Given the description of an element on the screen output the (x, y) to click on. 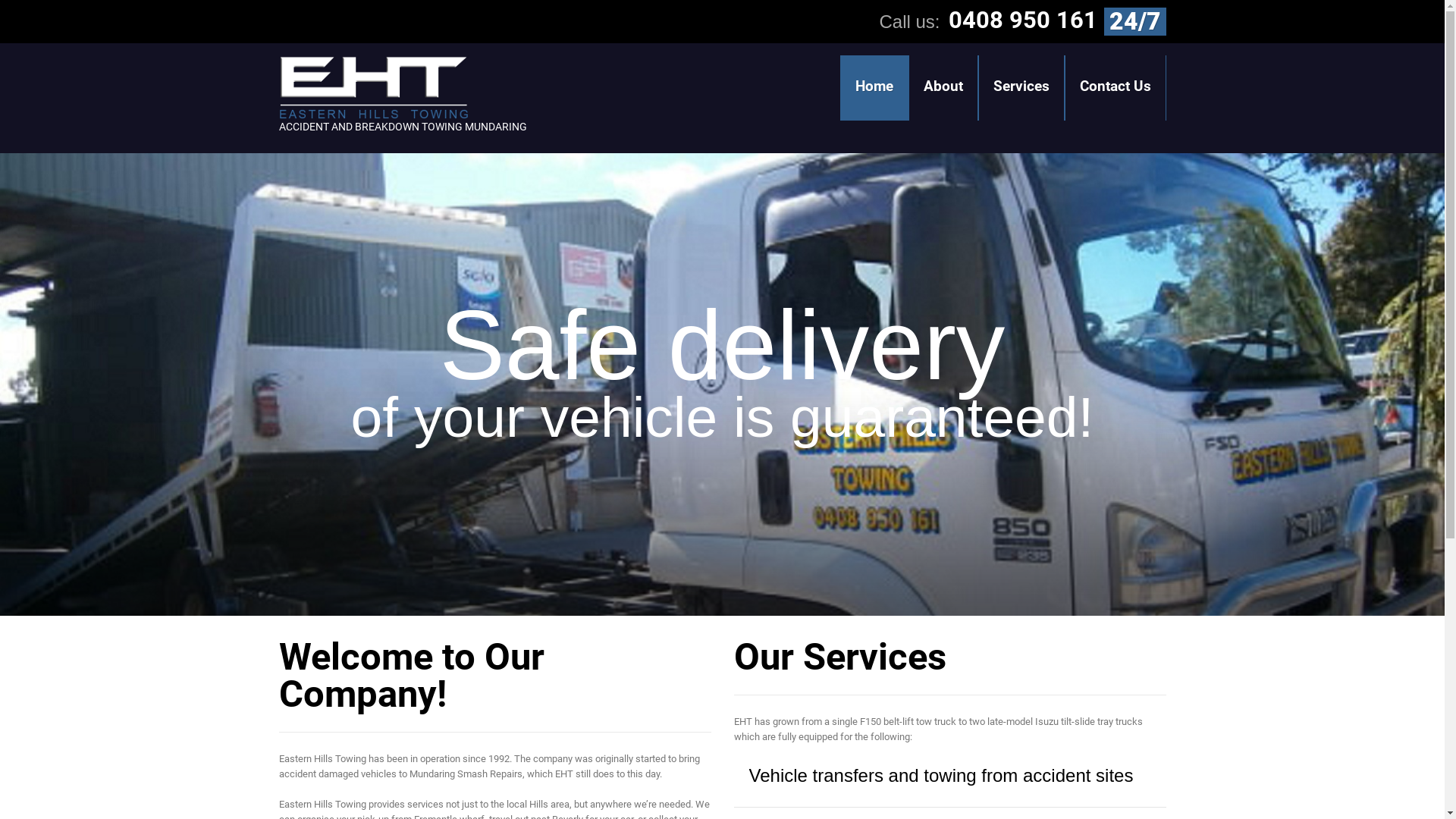
Vehicle transfers and towing from accident sites Element type: text (941, 775)
0408 950 161 Element type: text (1021, 20)
About Element type: text (942, 87)
Services Element type: text (1020, 87)
Contact Us Element type: text (1114, 87)
Home Element type: text (873, 87)
Accident and Breakdown Towing Mundaring Element type: hover (373, 87)
